Given the description of an element on the screen output the (x, y) to click on. 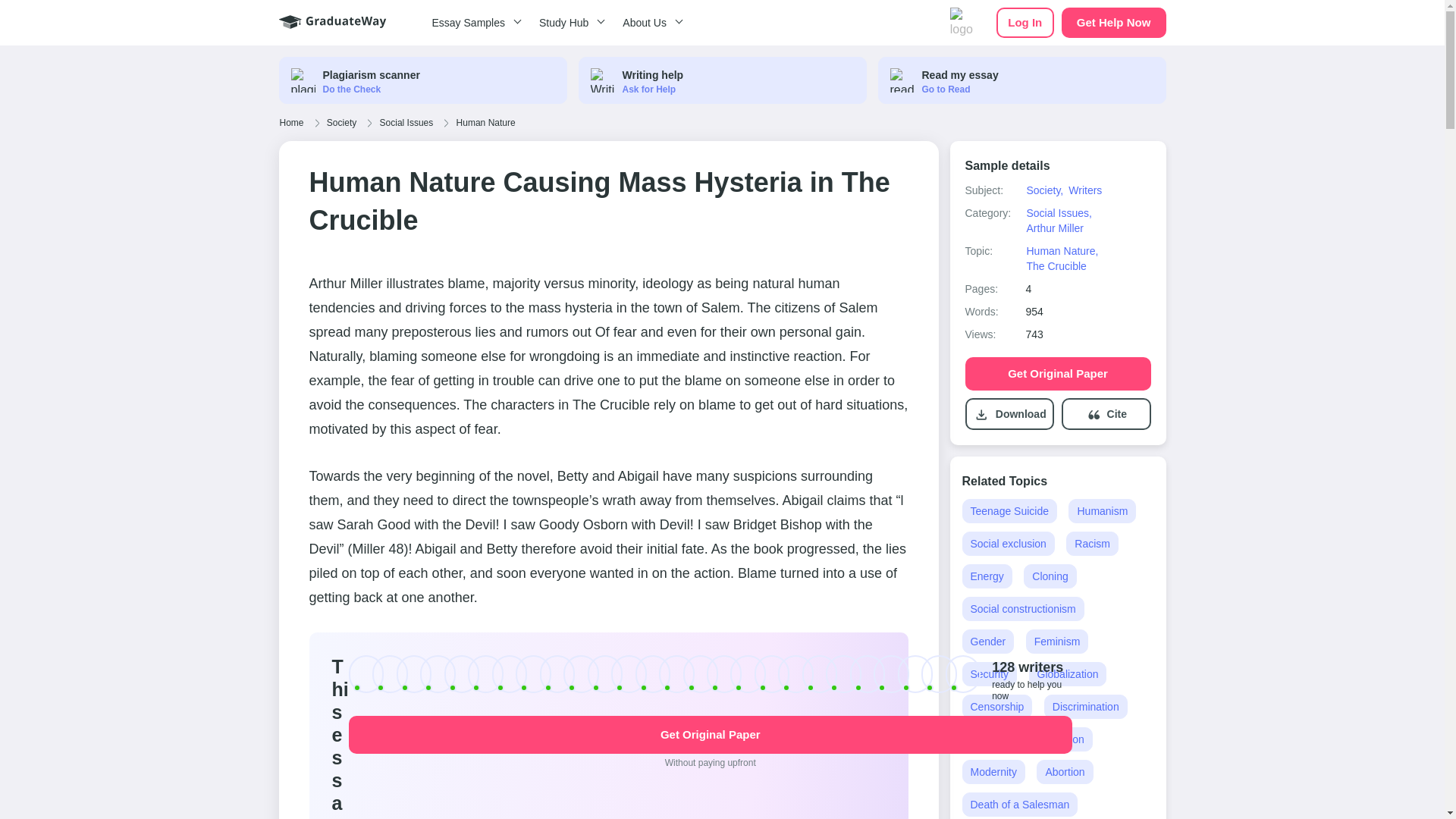
Writers (1084, 190)
Society (341, 122)
Cite (1116, 413)
Study Hub (569, 22)
Essay Samples (473, 22)
Human Nature (485, 122)
About Us (649, 22)
Social Issues (405, 122)
Society, (1044, 190)
Home (291, 122)
